Given the description of an element on the screen output the (x, y) to click on. 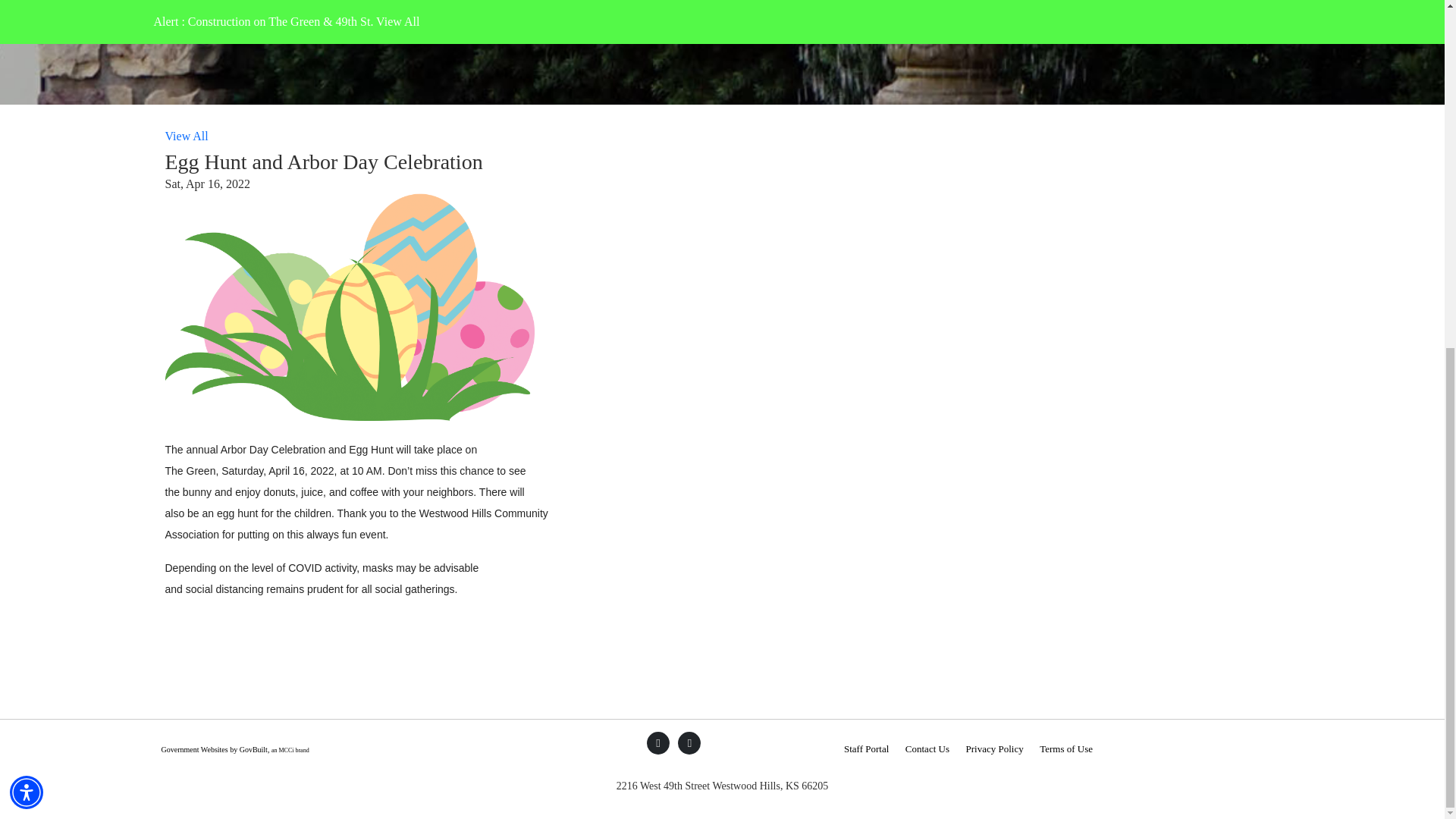
Accessibility Menu (26, 192)
